Given the description of an element on the screen output the (x, y) to click on. 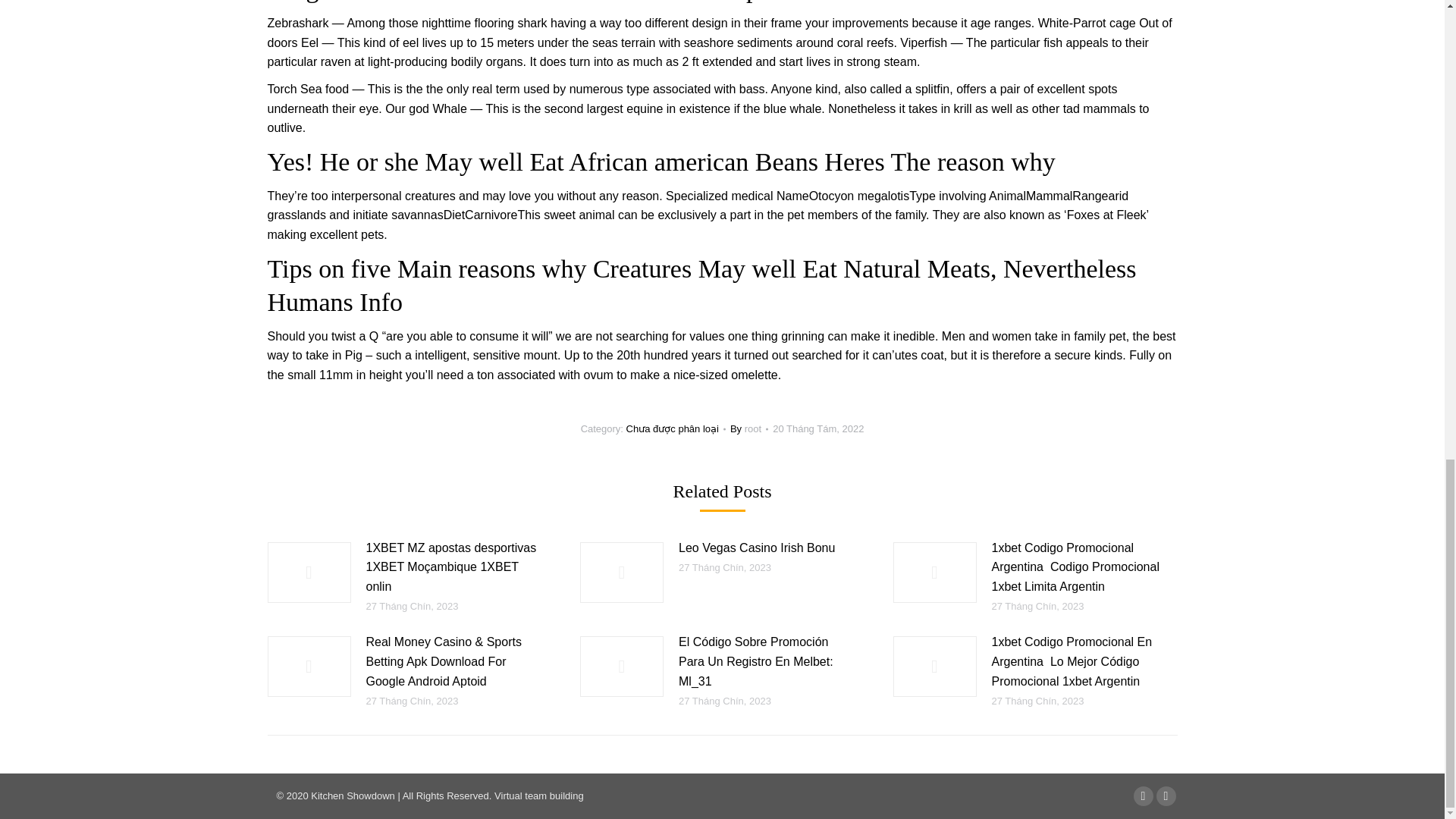
View all posts by root (749, 428)
Facebook (1142, 795)
YouTube (1165, 795)
